Given the description of an element on the screen output the (x, y) to click on. 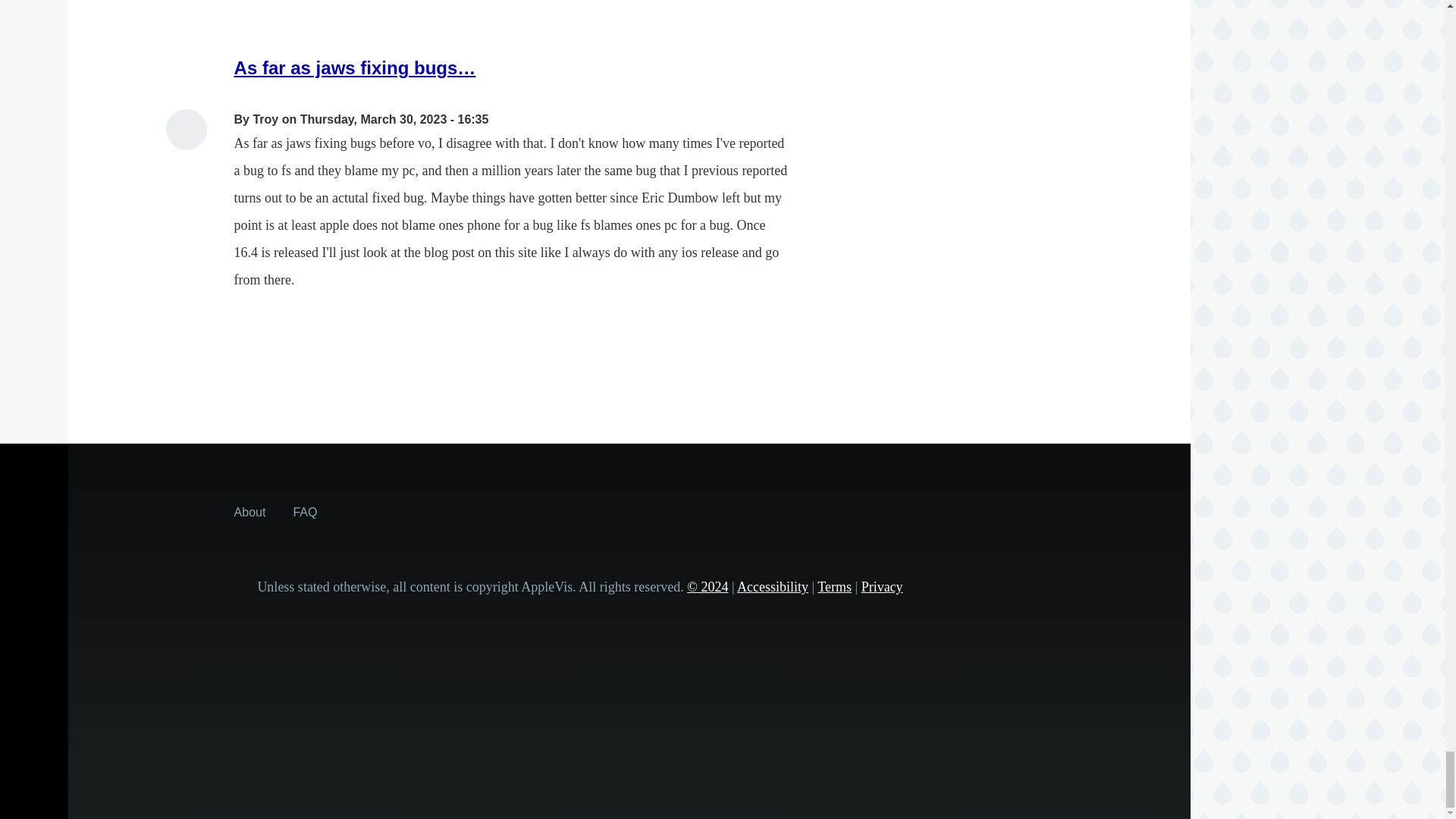
Answers to some frequently asked questions about AppleVis (304, 511)
About (250, 511)
